Given the description of an element on the screen output the (x, y) to click on. 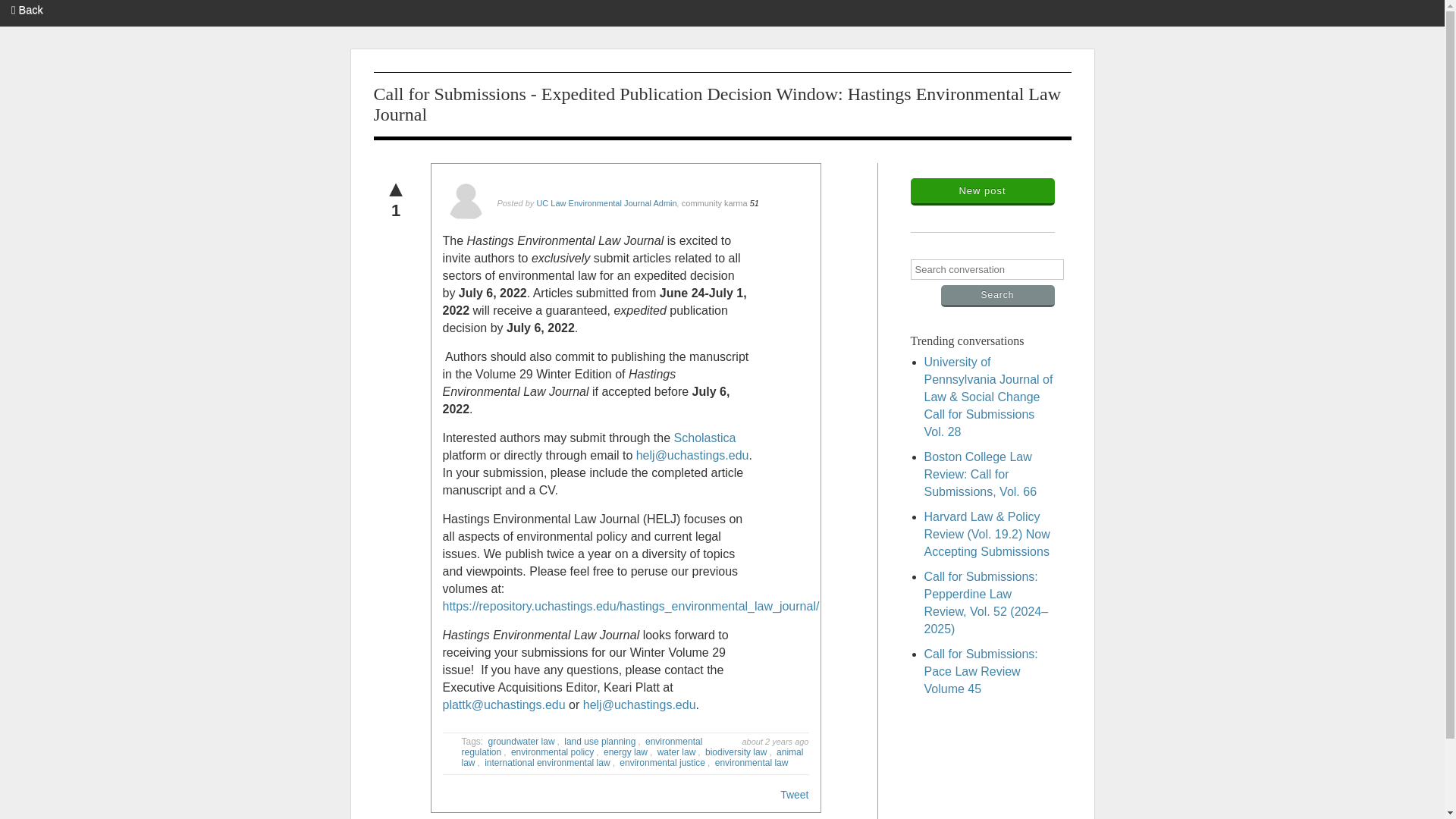
environmental regulation (581, 745)
international environmental law (547, 762)
Scholastica (705, 435)
UC Law Environmental Journal Admin (606, 200)
environmental policy (552, 751)
biodiversity law (735, 751)
community karma (714, 200)
Boston College Law Review: Call for Submissions, Vol. 66 (979, 473)
environmental law (751, 762)
land use planning (599, 740)
